Given the description of an element on the screen output the (x, y) to click on. 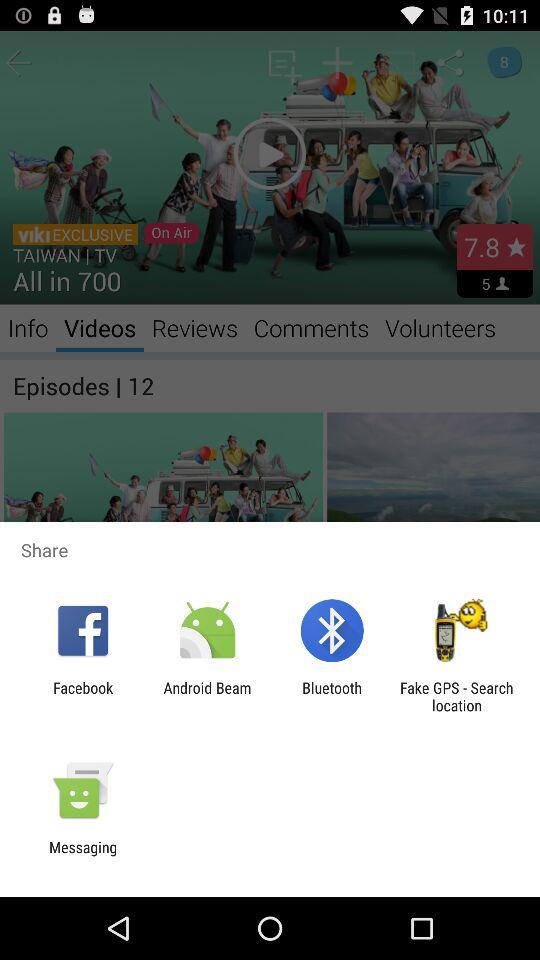
turn off app to the left of the bluetooth (207, 696)
